Given the description of an element on the screen output the (x, y) to click on. 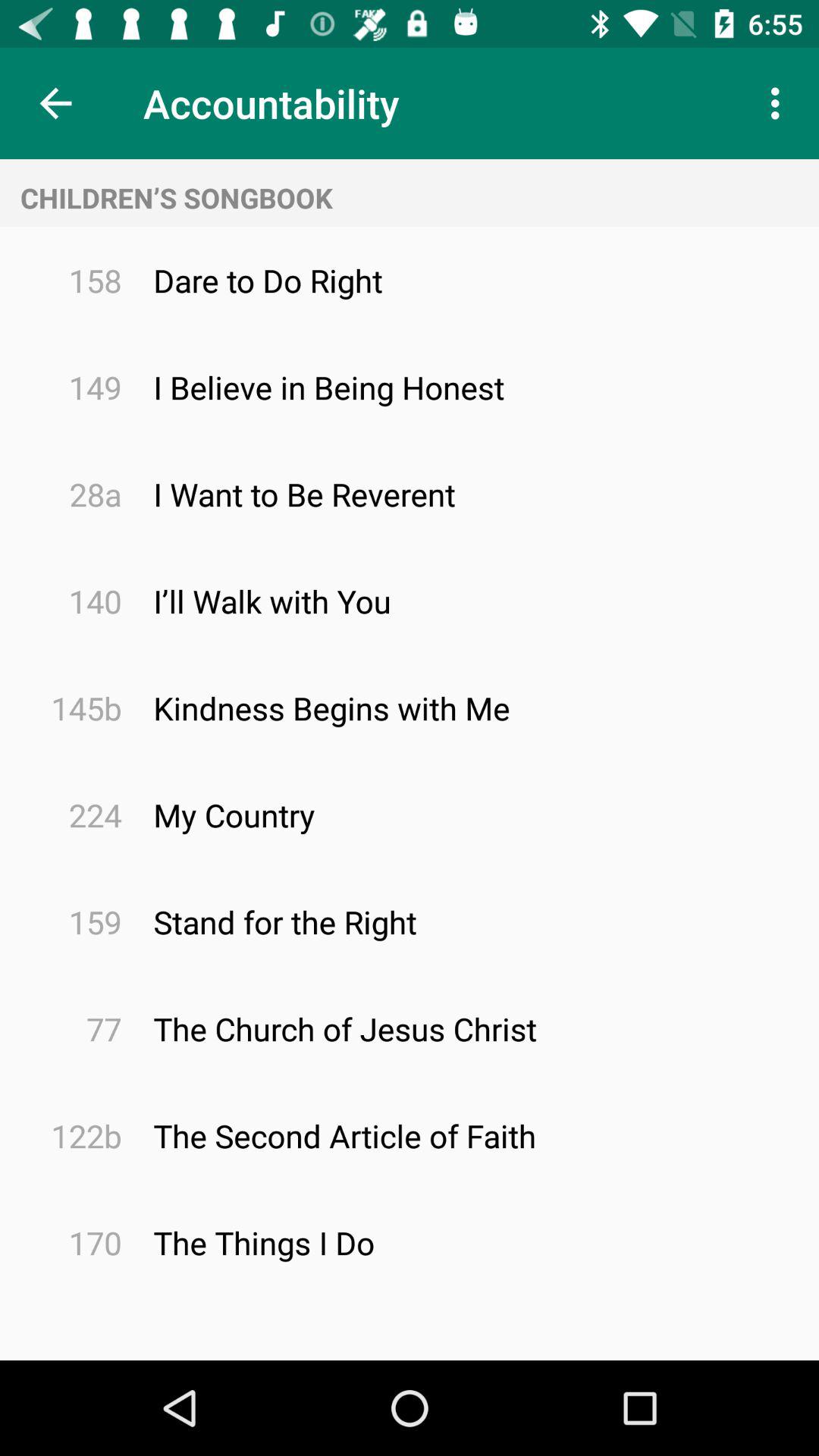
tap the item next to accountability icon (779, 103)
